Given the description of an element on the screen output the (x, y) to click on. 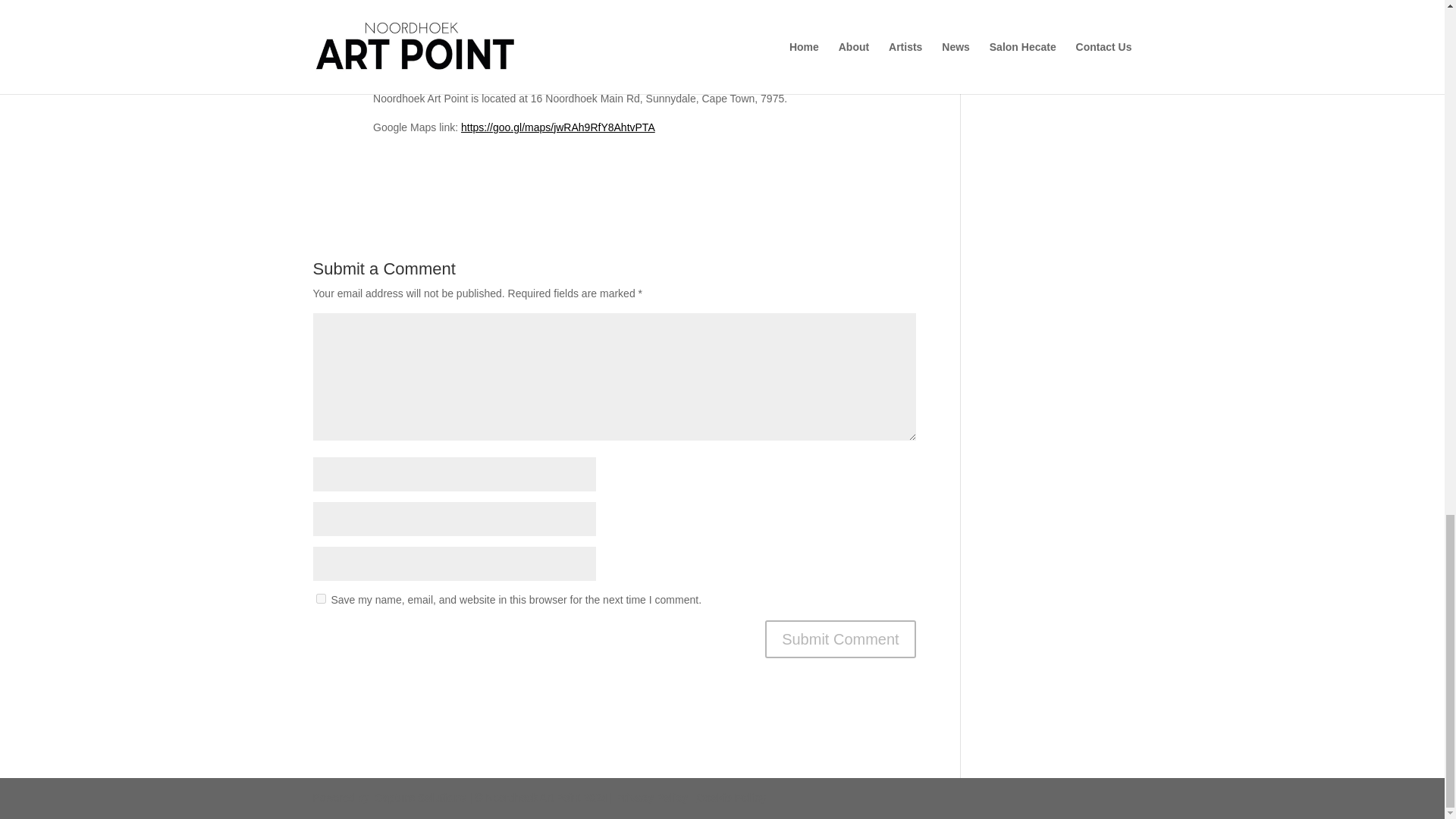
yes (319, 598)
Submit Comment (840, 638)
Submit Comment (840, 638)
ICapture Solutions (418, 797)
Privacy Policy (651, 797)
Cookie Policy (732, 797)
